Given the description of an element on the screen output the (x, y) to click on. 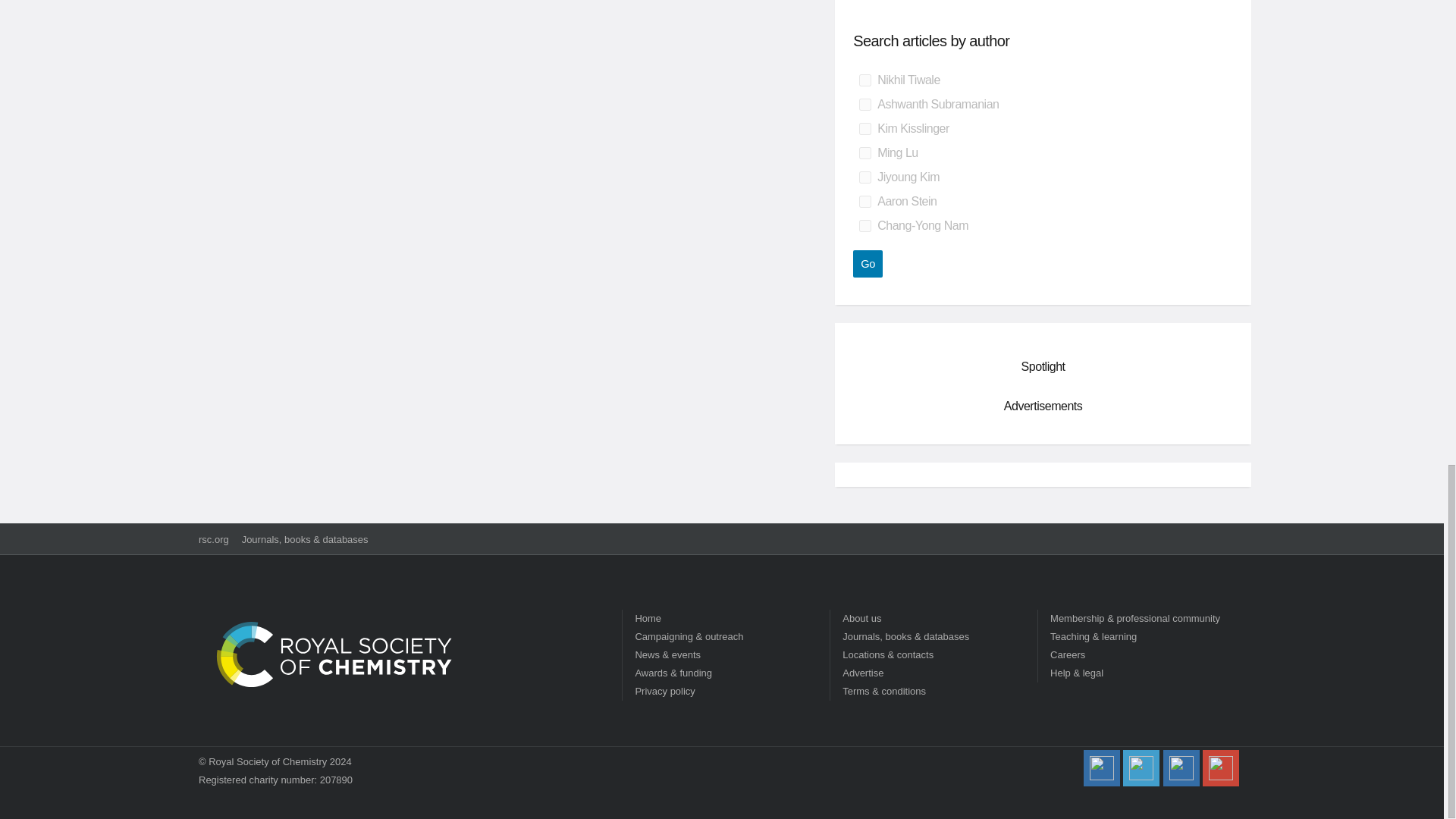
Go (867, 263)
on (864, 80)
on (864, 225)
on (864, 177)
Go (867, 263)
on (864, 128)
on (864, 104)
on (864, 152)
on (864, 201)
